Given the description of an element on the screen output the (x, y) to click on. 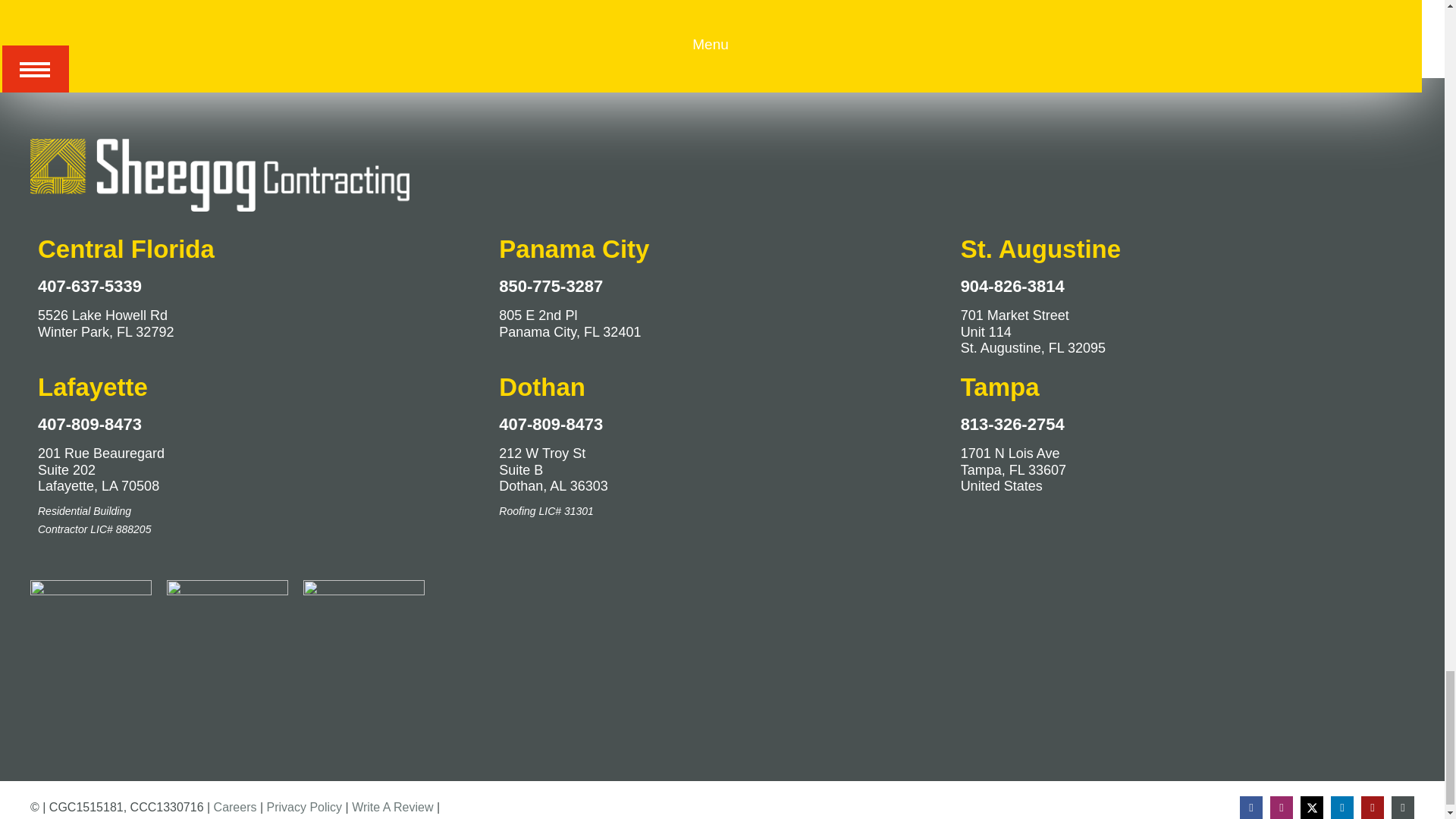
850-775-3287 (550, 285)
813-326-2754 (1012, 424)
904-826-3814 (1012, 285)
Privacy Policy (304, 807)
Careers (235, 807)
Write A Review (392, 807)
